Given the description of an element on the screen output the (x, y) to click on. 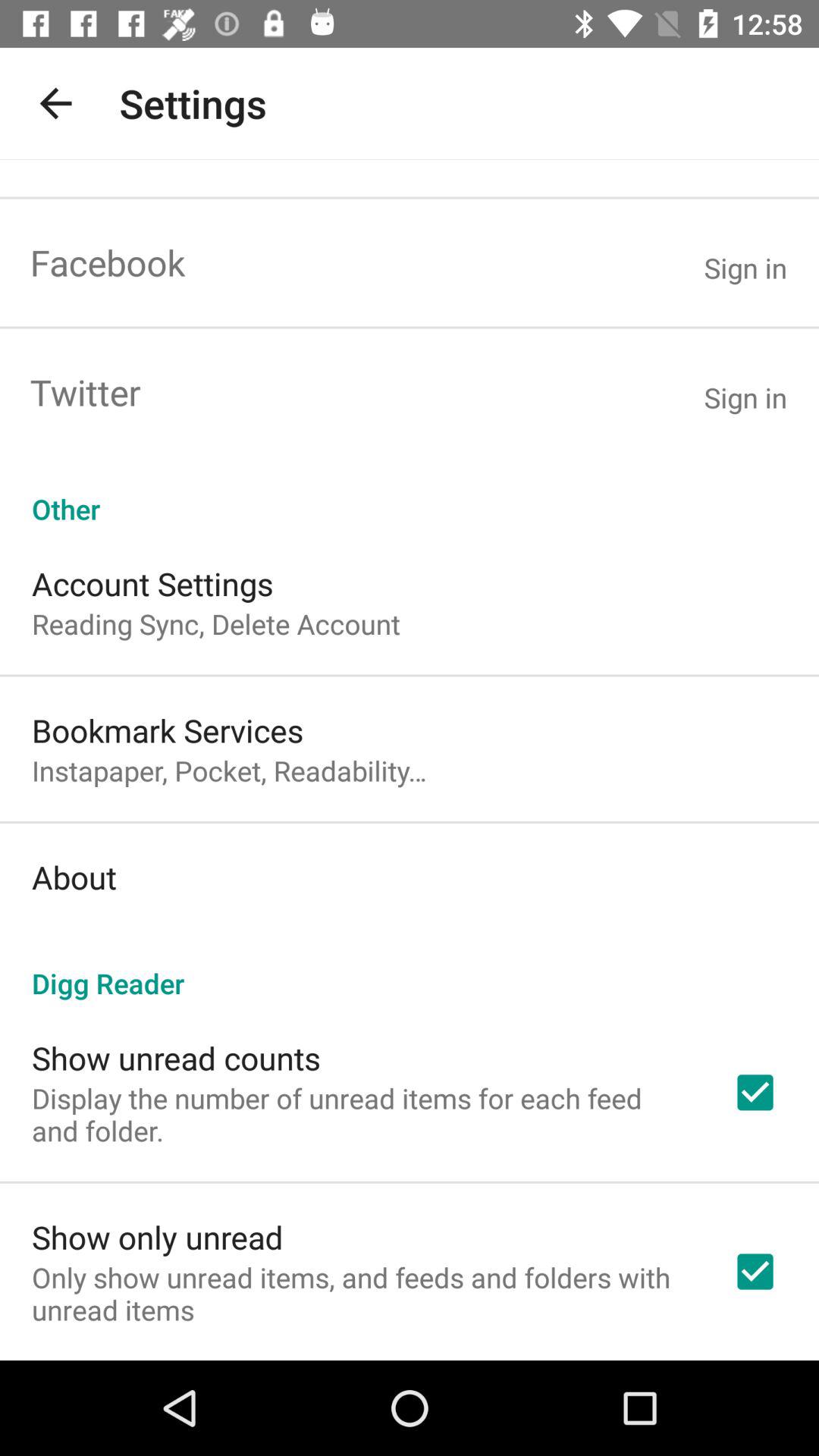
choose the icon below reading sync delete icon (167, 729)
